Given the description of an element on the screen output the (x, y) to click on. 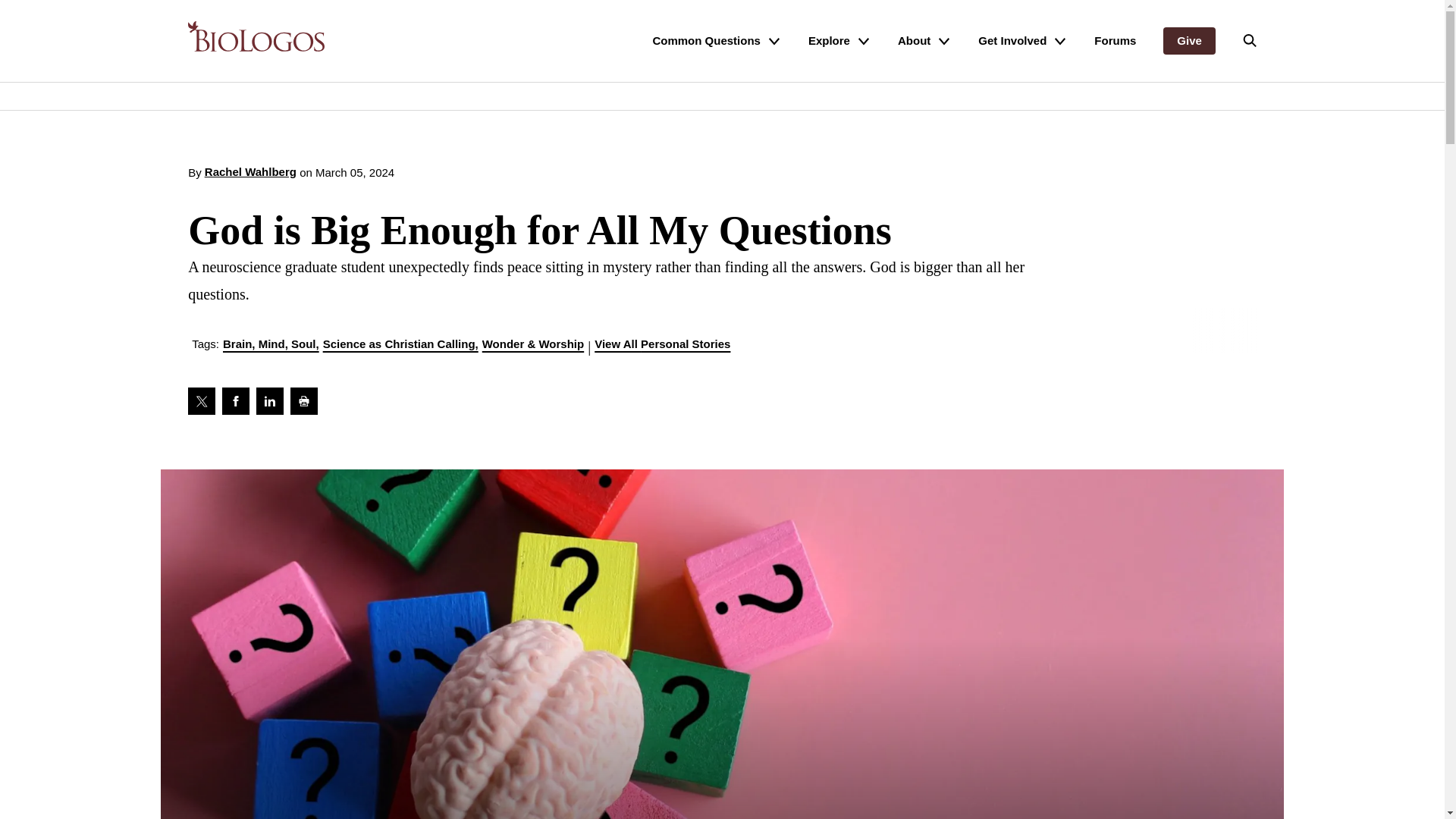
Science as Christian Calling, (401, 345)
View All Personal Stories (669, 345)
Rachel Wahlberg (251, 172)
About (924, 41)
Forums (1114, 41)
Common Questions (716, 41)
Explore (839, 41)
Get Involved (1022, 41)
Brain, Mind, Soul, (270, 345)
Give (1189, 41)
